Given the description of an element on the screen output the (x, y) to click on. 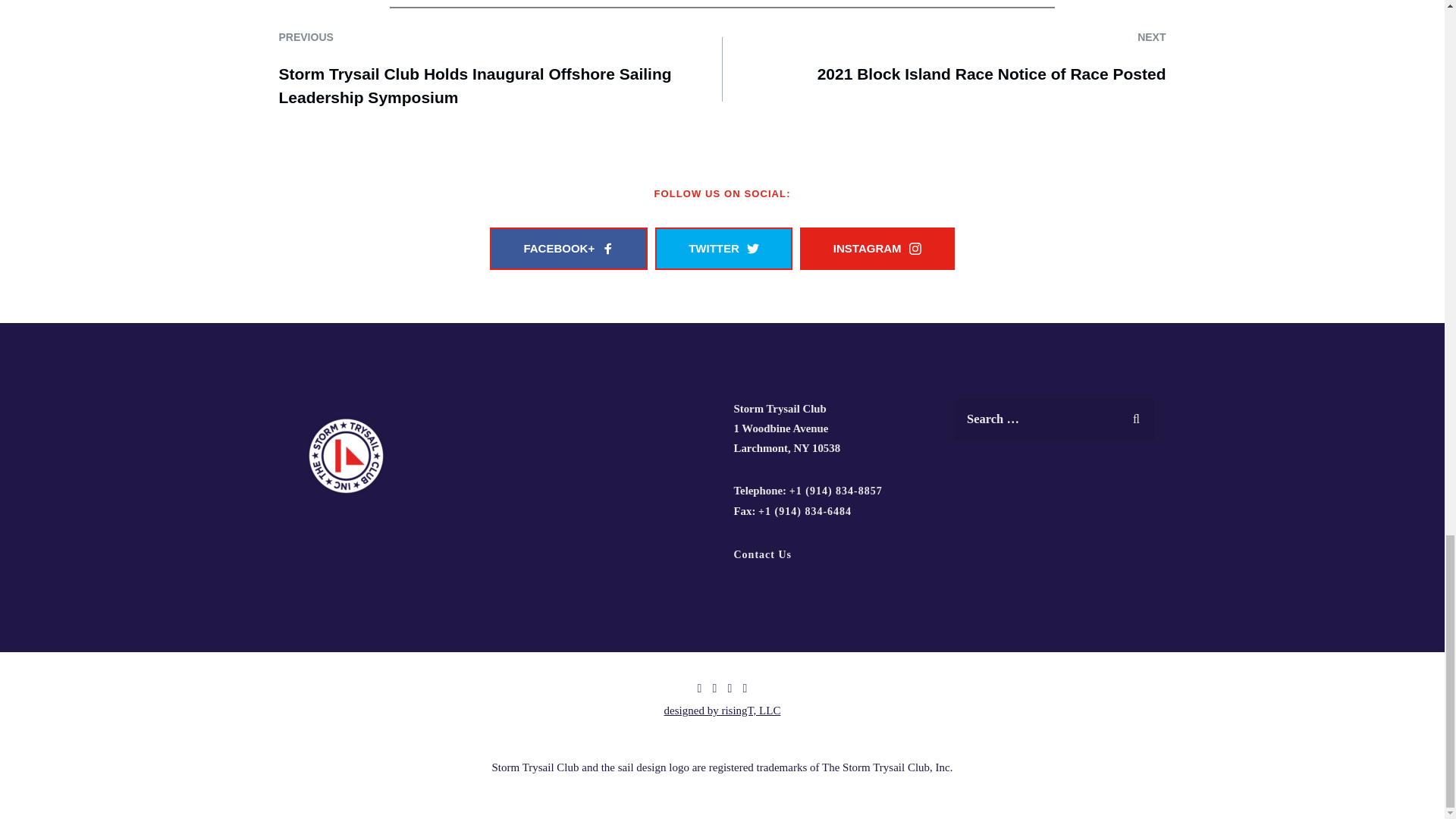
Search (1136, 416)
Search (1136, 416)
